Given the description of an element on the screen output the (x, y) to click on. 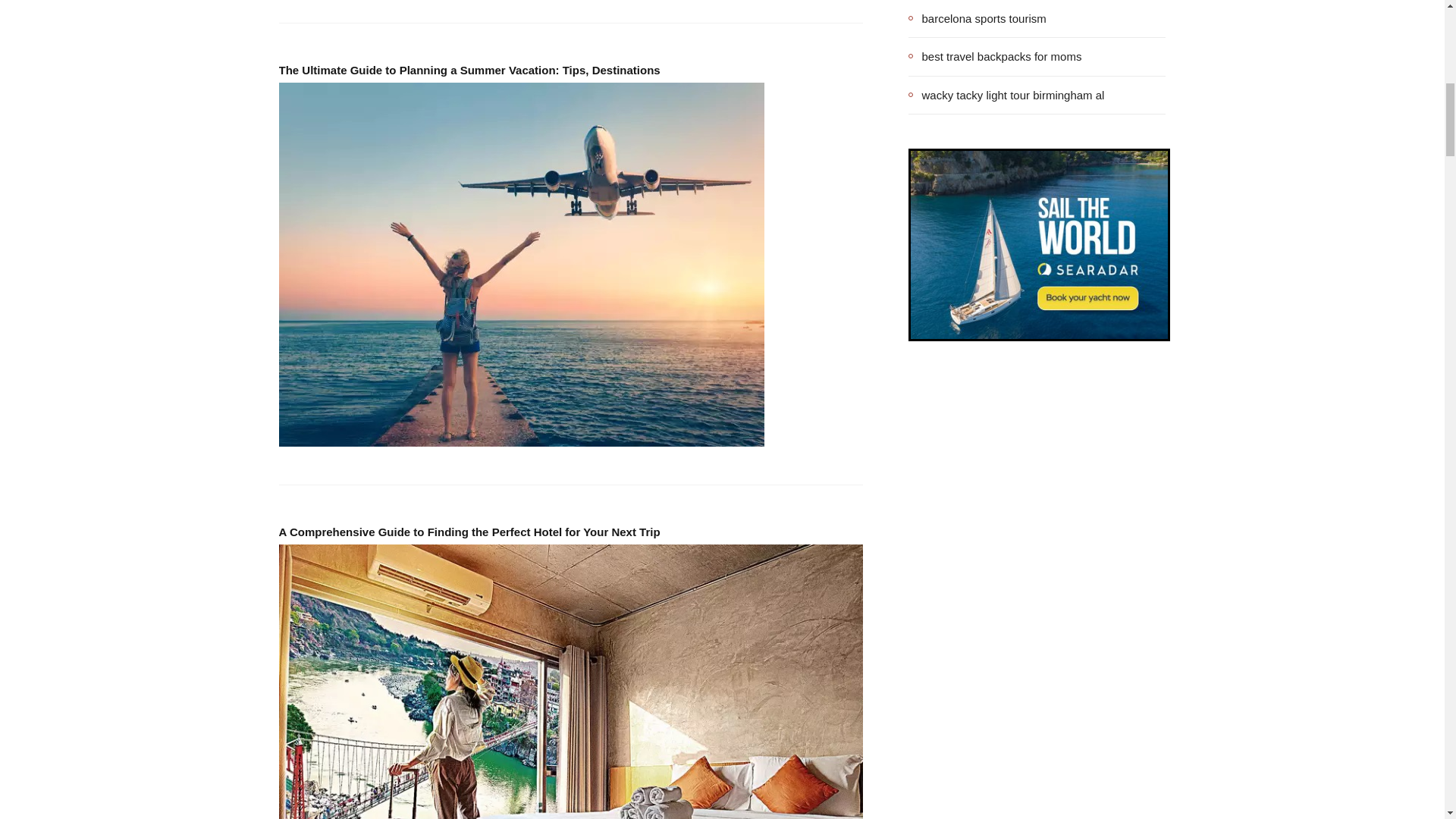
barcelona sports tourism (977, 18)
wacky tacky light tour birmingham al (1006, 94)
best travel backpacks for moms (994, 56)
